Given the description of an element on the screen output the (x, y) to click on. 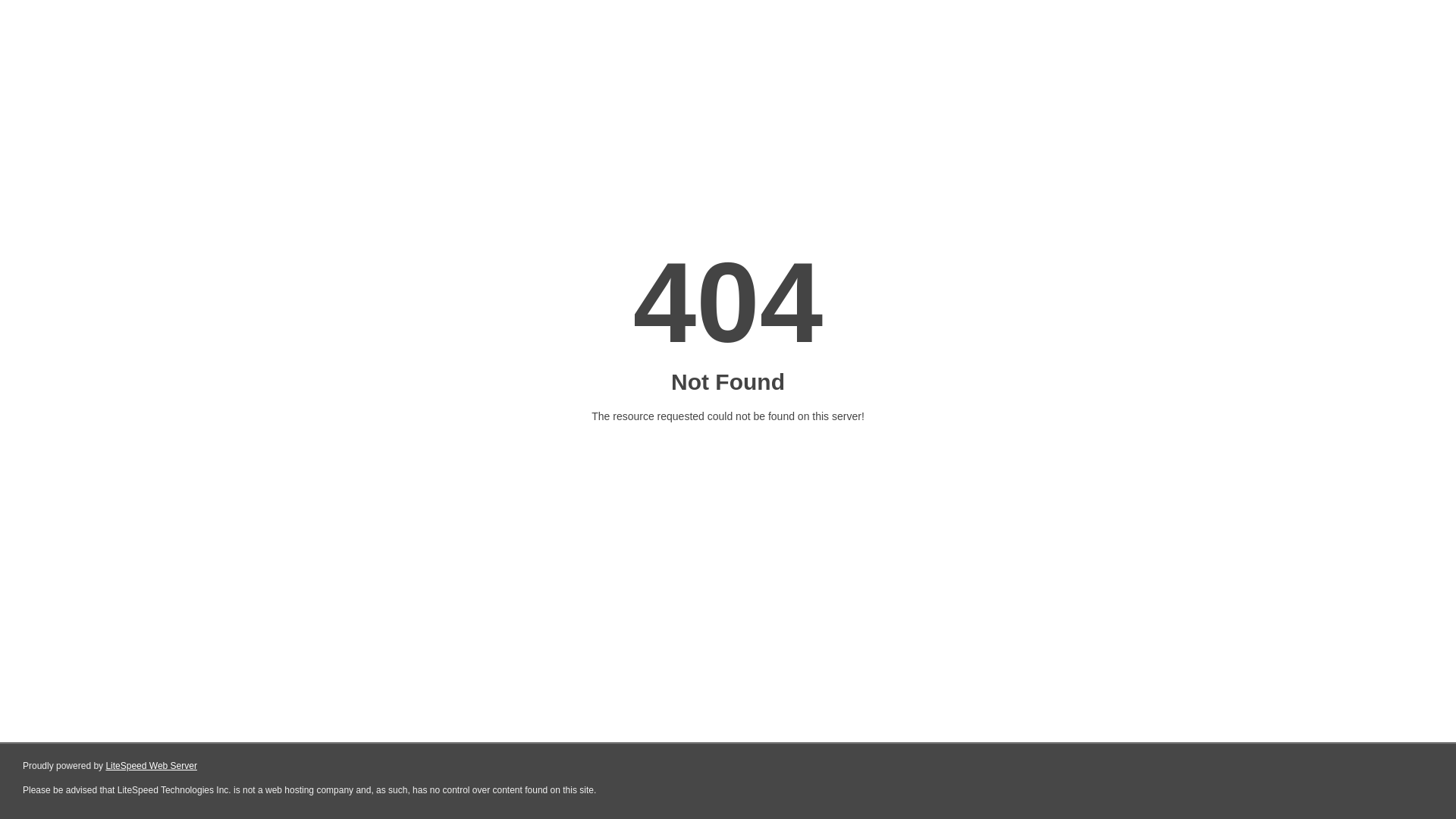
LiteSpeed Web Server Element type: text (151, 765)
